Given the description of an element on the screen output the (x, y) to click on. 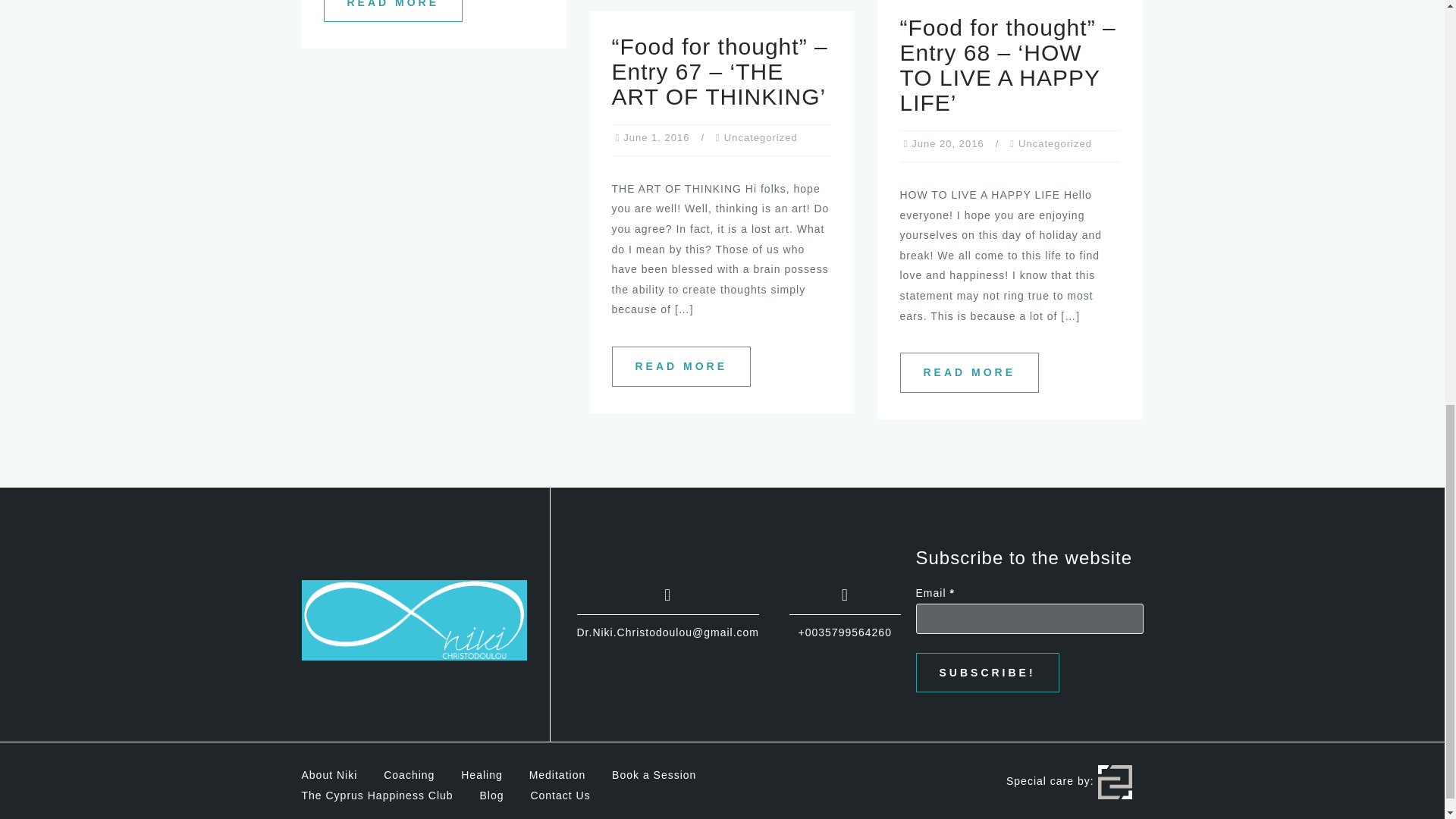
READ MORE (393, 11)
Online webinar (393, 11)
Subscribe! (987, 672)
